Given the description of an element on the screen output the (x, y) to click on. 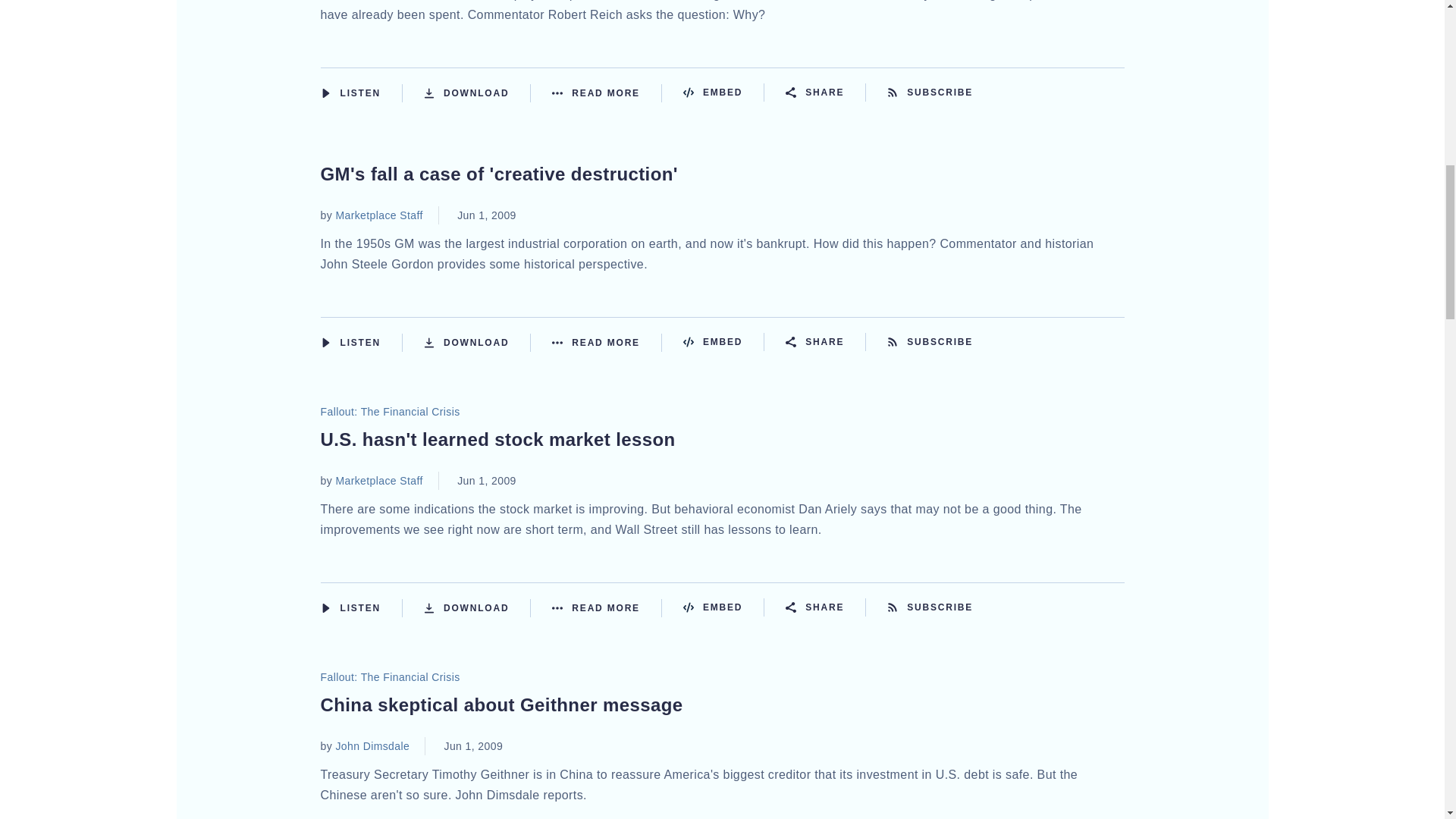
Download (477, 92)
Listen Now (360, 92)
Read More (606, 92)
LISTEN (325, 92)
